Given the description of an element on the screen output the (x, y) to click on. 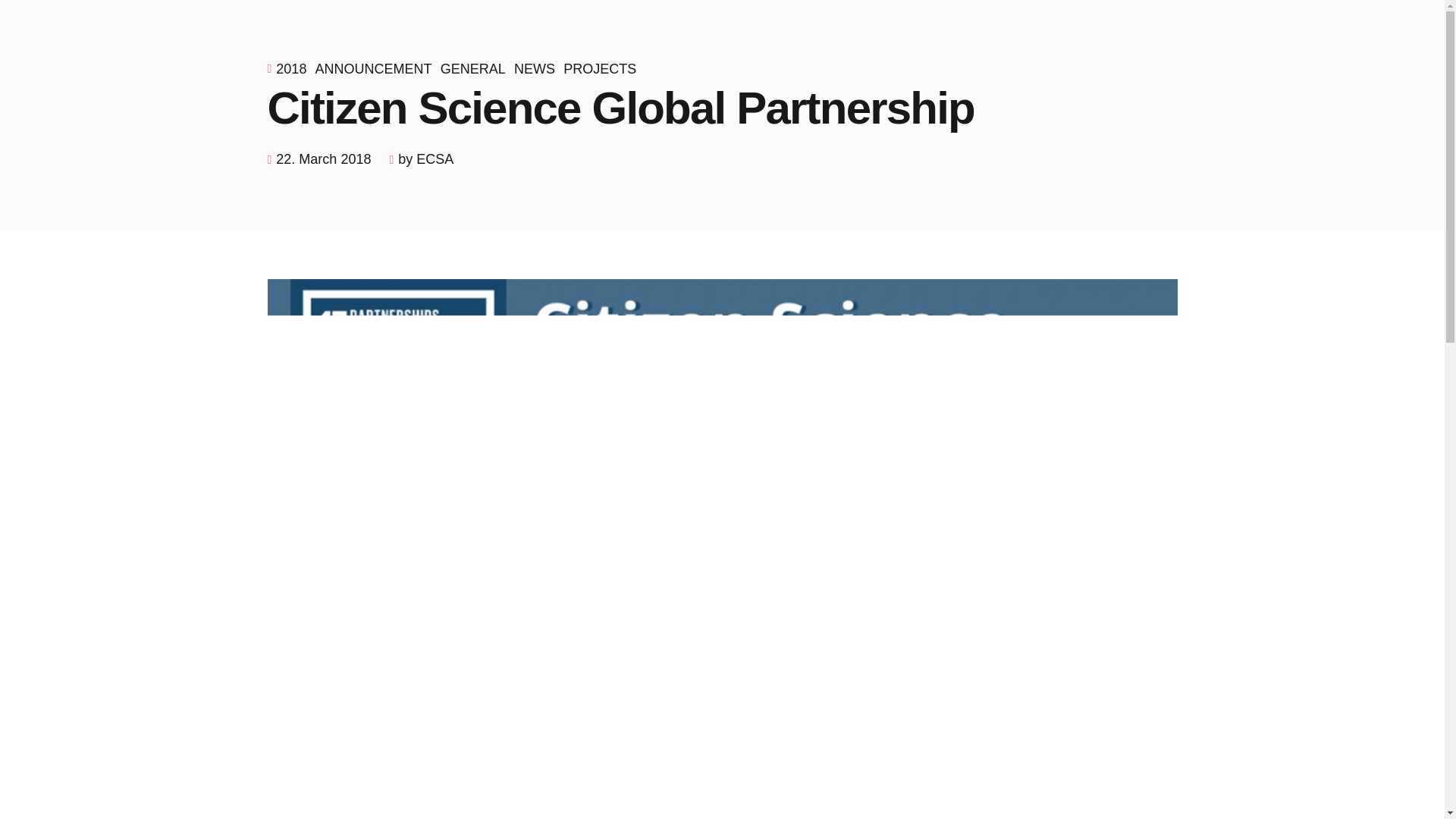
2018 (295, 68)
ANNOUNCEMENT (378, 68)
GENERAL (477, 68)
